Given the description of an element on the screen output the (x, y) to click on. 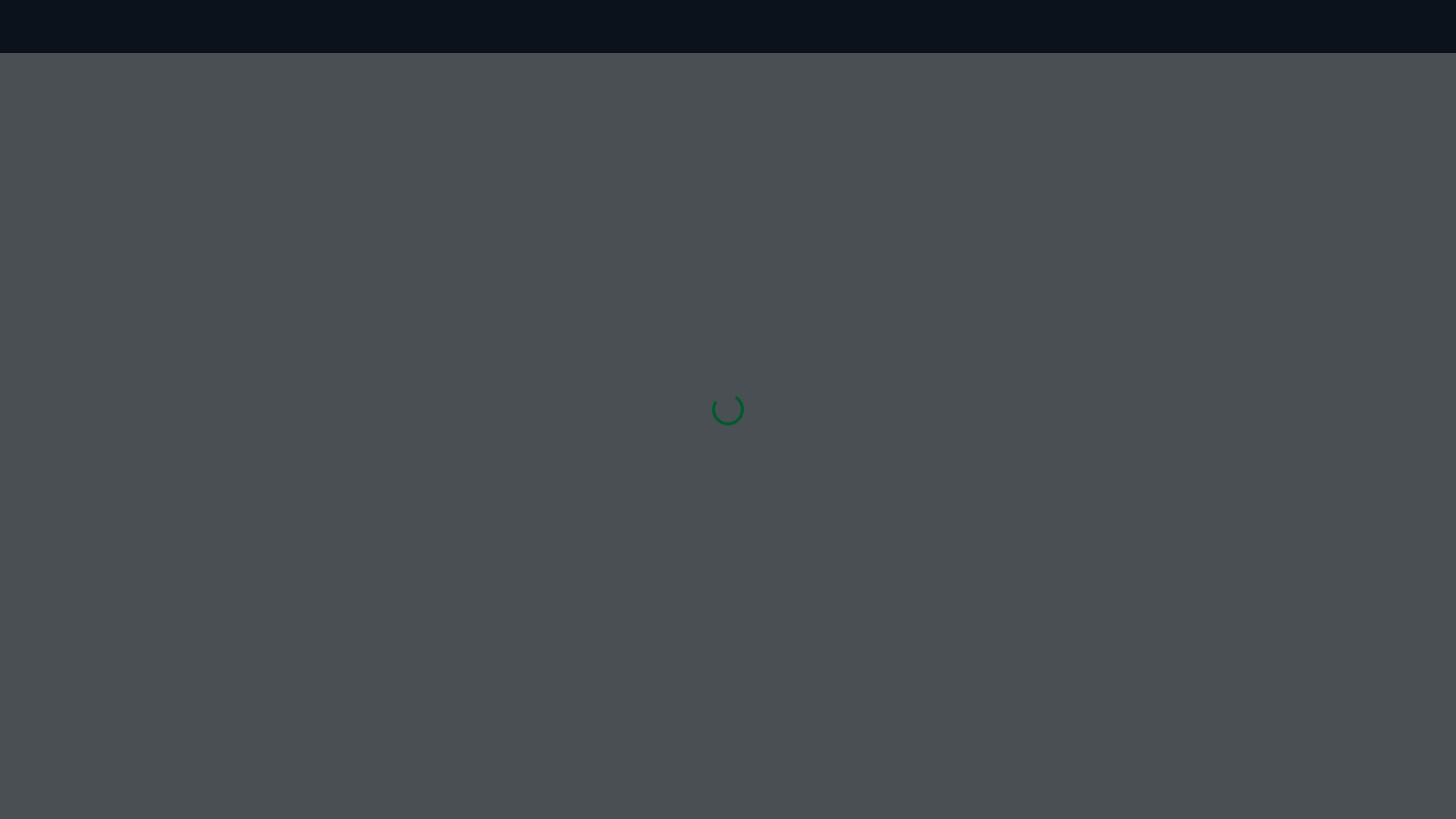
TELEGRAM Element type: text (1264, 662)
DEFENDER Element type: text (92, 661)
RANGE ROVER SPORT Element type: text (118, 551)
SPECIAL VEHICLE OPERATIONS Element type: text (139, 683)
TRADE-IN Element type: text (357, 595)
RANGE ROVER EVOQUE Element type: text (121, 595)
INSTAGRAM Element type: text (1264, 615)
RANGE ROVER Element type: text (101, 529)
DISCOVERY Element type: text (94, 617)
YOUTUBE Element type: text (1264, 568)
INCONTROL Element type: text (631, 529)
FACEBOOK Element type: text (1264, 521)
DISCOVERY SPORT Element type: text (111, 639)
RANGE ROVER VELAR Element type: text (117, 573)
